Given the description of an element on the screen output the (x, y) to click on. 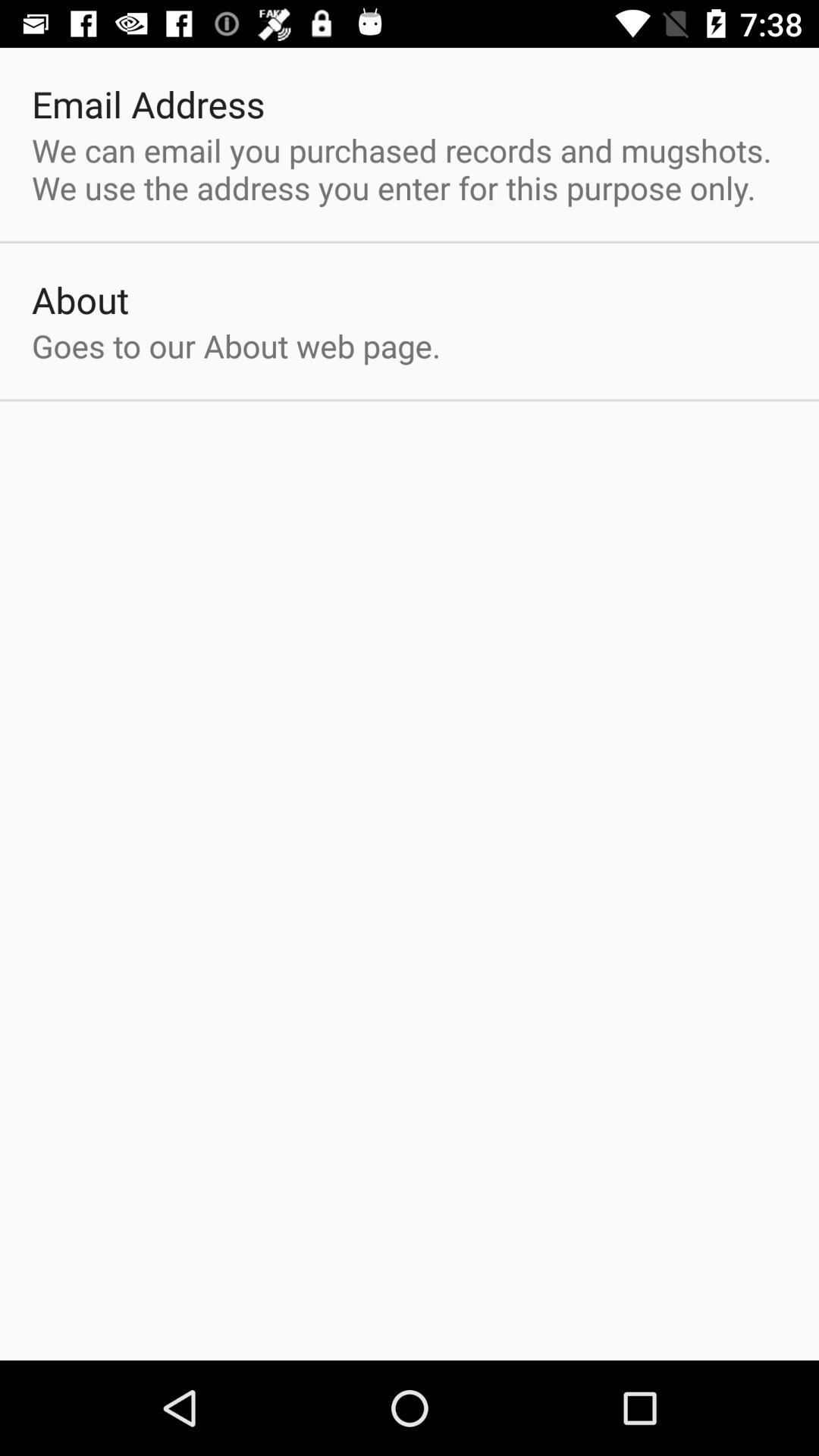
press goes to our icon (235, 345)
